Given the description of an element on the screen output the (x, y) to click on. 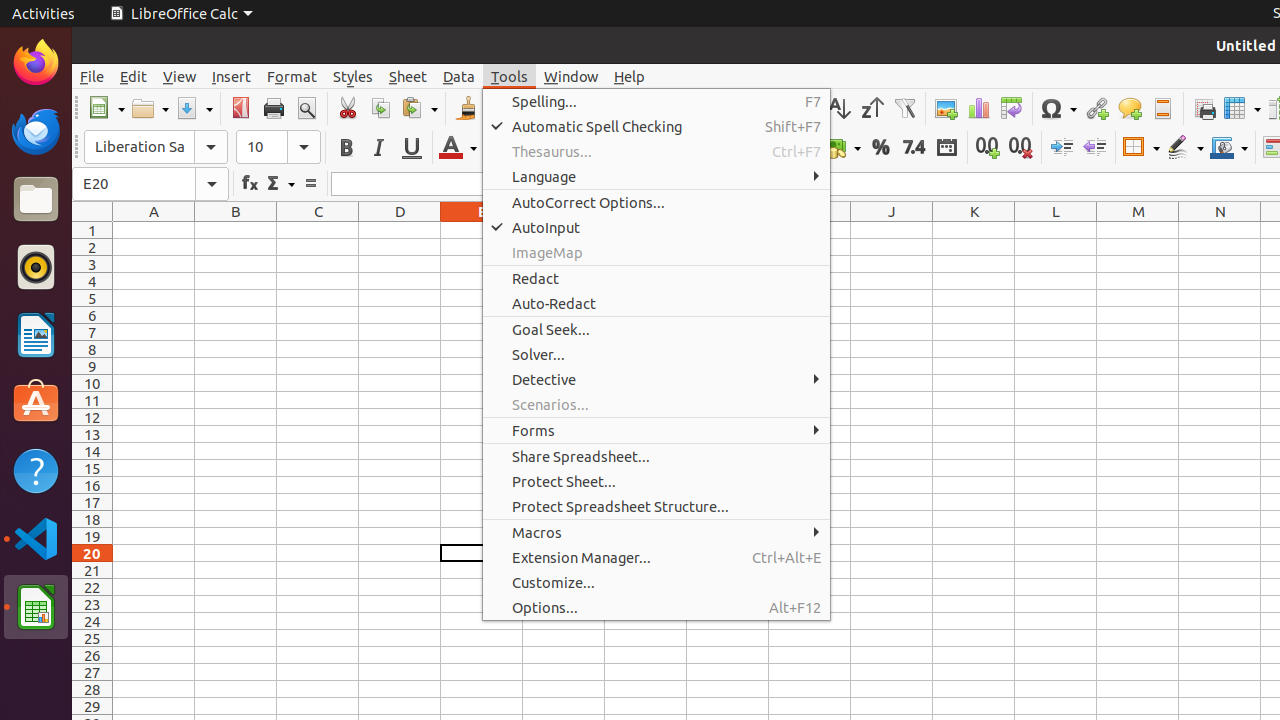
Function Wizard Element type: push-button (249, 183)
Print Preview Element type: toggle-button (306, 108)
Headers and Footers Element type: push-button (1162, 108)
L1 Element type: table-cell (1056, 230)
View Element type: menu (179, 76)
